Given the description of an element on the screen output the (x, y) to click on. 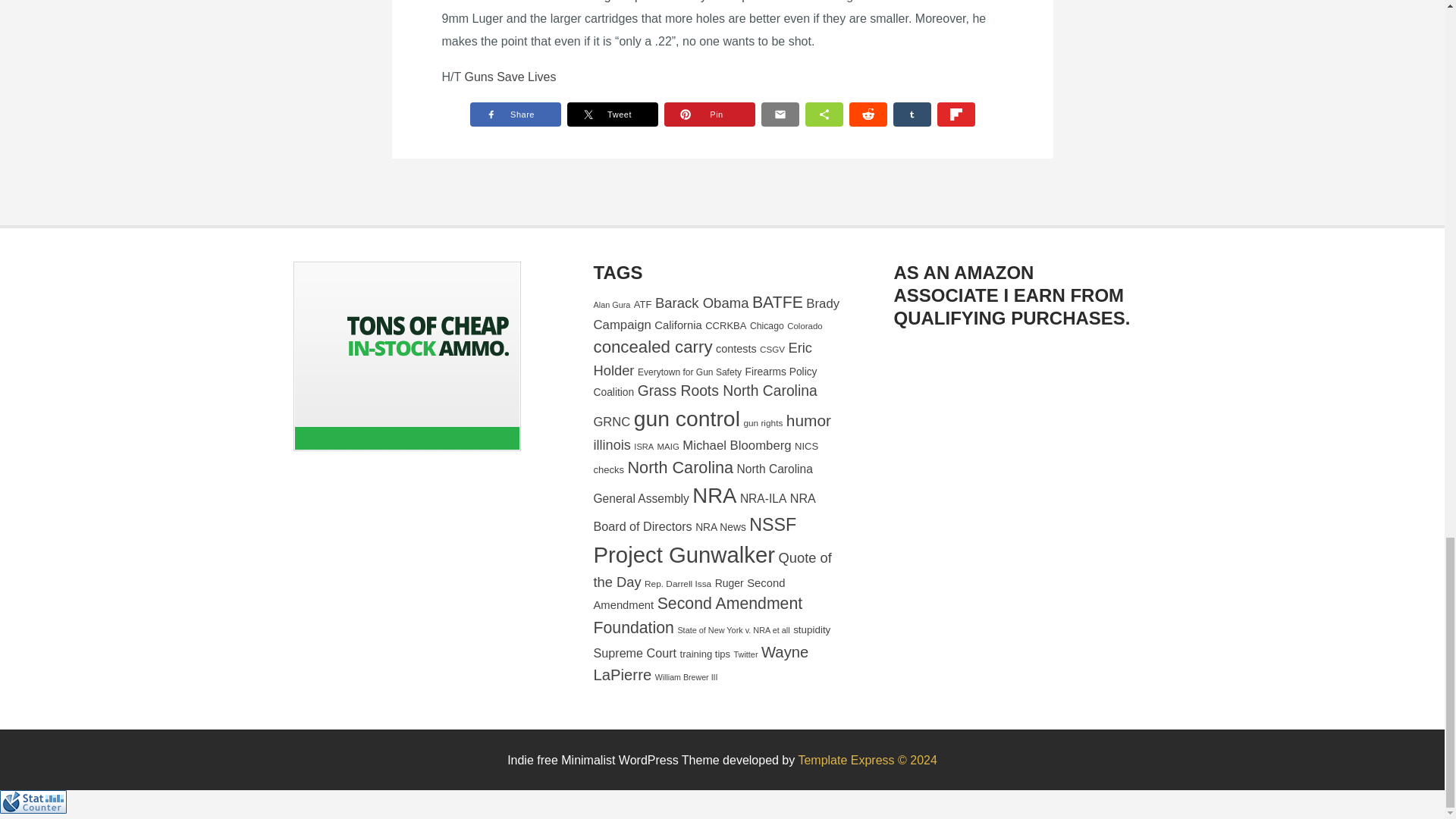
ATF (642, 304)
Cheap Bulk ammo  (405, 356)
Grass Roots North Carolina (726, 390)
Guns Save Lives (510, 76)
Alan Gura (611, 304)
Brady Campaign (716, 314)
California (677, 325)
BATFE (777, 302)
Barack Obama (702, 302)
contests (736, 348)
gun control (686, 418)
humor (808, 420)
concealed carry (651, 346)
Chicago (766, 326)
